Given the description of an element on the screen output the (x, y) to click on. 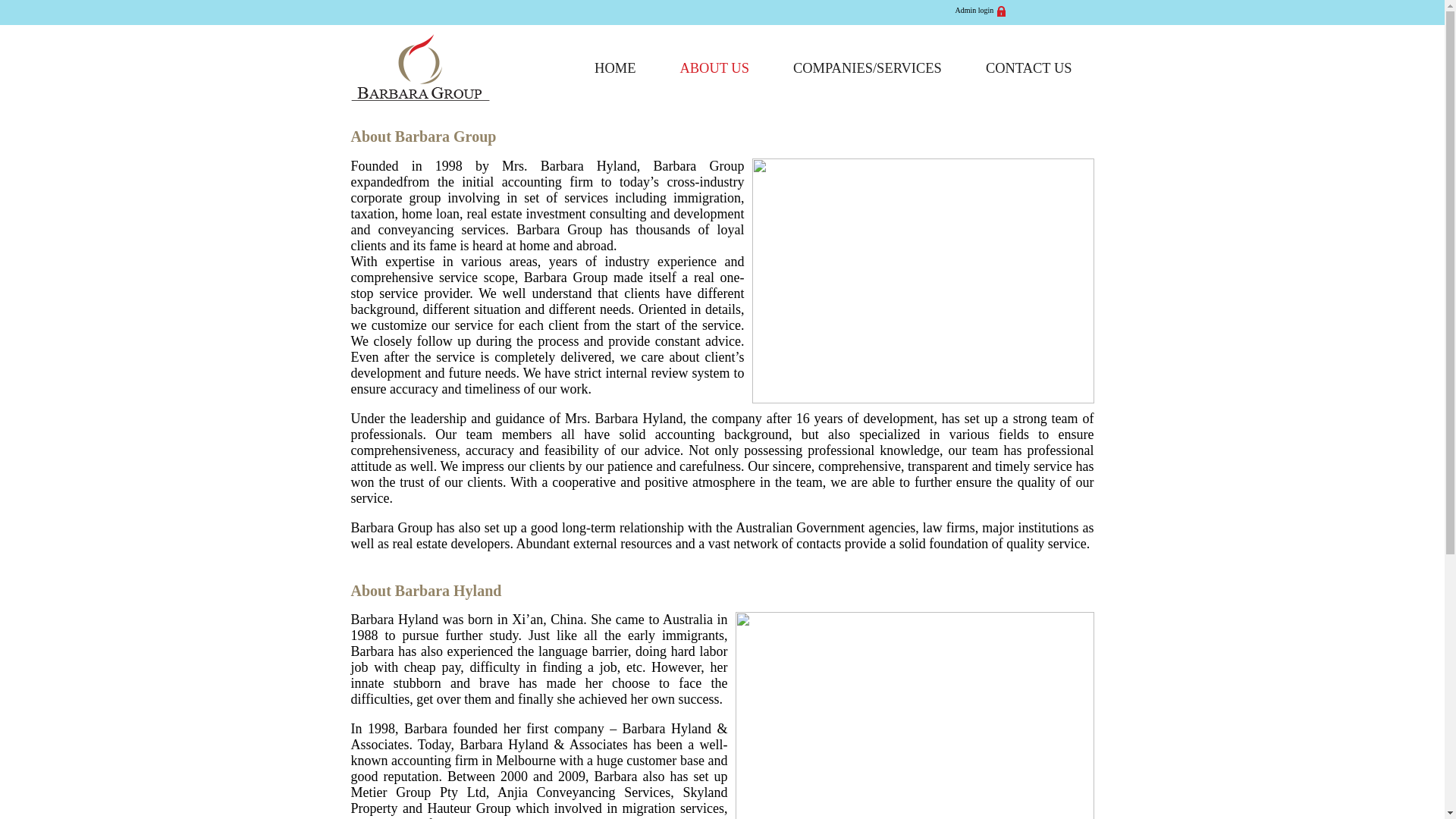
HOME (615, 68)
CONTACT US (1028, 68)
ABOUT US (714, 68)
